Given the description of an element on the screen output the (x, y) to click on. 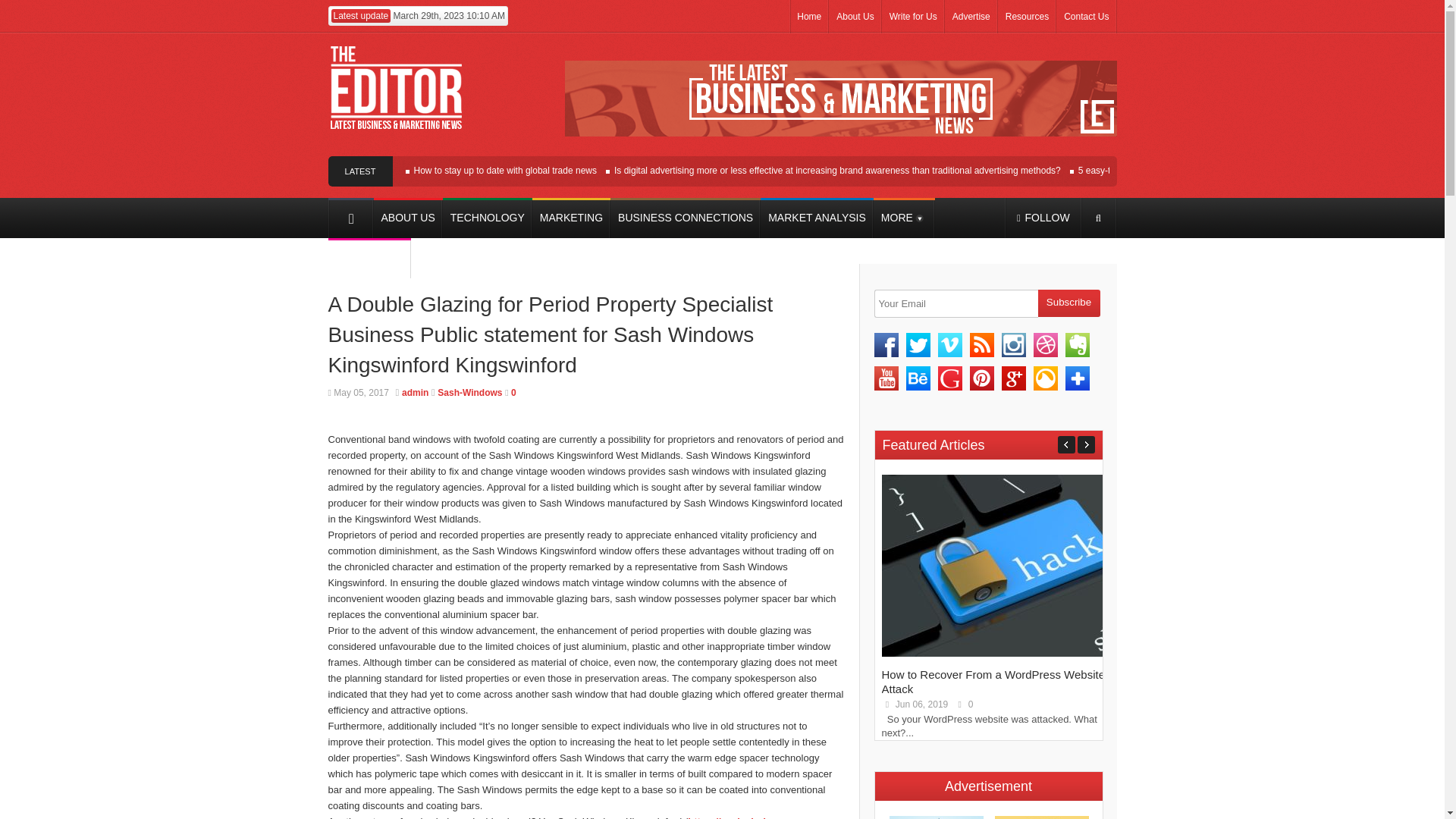
How to stay up to date with global trade news (504, 170)
CONTACT US (368, 258)
Resources (1027, 16)
MARKET ANALYSIS (816, 218)
Advertise (970, 16)
Posts by admin (414, 392)
Contact Us (1086, 16)
Home (808, 16)
Write for Us (913, 16)
MORE (903, 218)
